Given the description of an element on the screen output the (x, y) to click on. 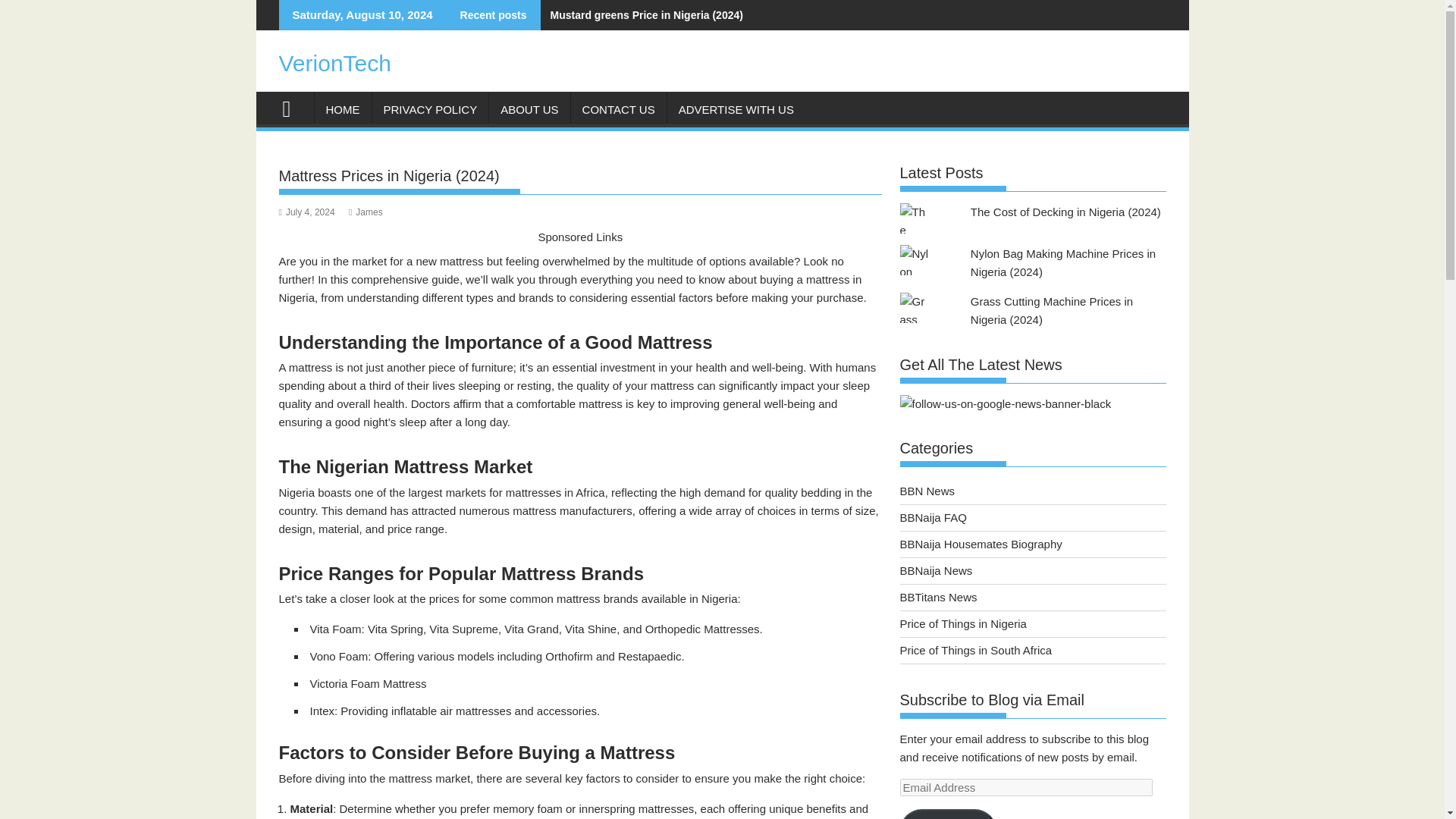
ADVERTISE WITH US (735, 109)
CONTACT US (618, 109)
July 4, 2024 (306, 212)
James (365, 212)
HOME (342, 109)
ABOUT US (529, 109)
PRIVACY POLICY (429, 109)
VerionTech (293, 106)
VerionTech (335, 63)
